Given the description of an element on the screen output the (x, y) to click on. 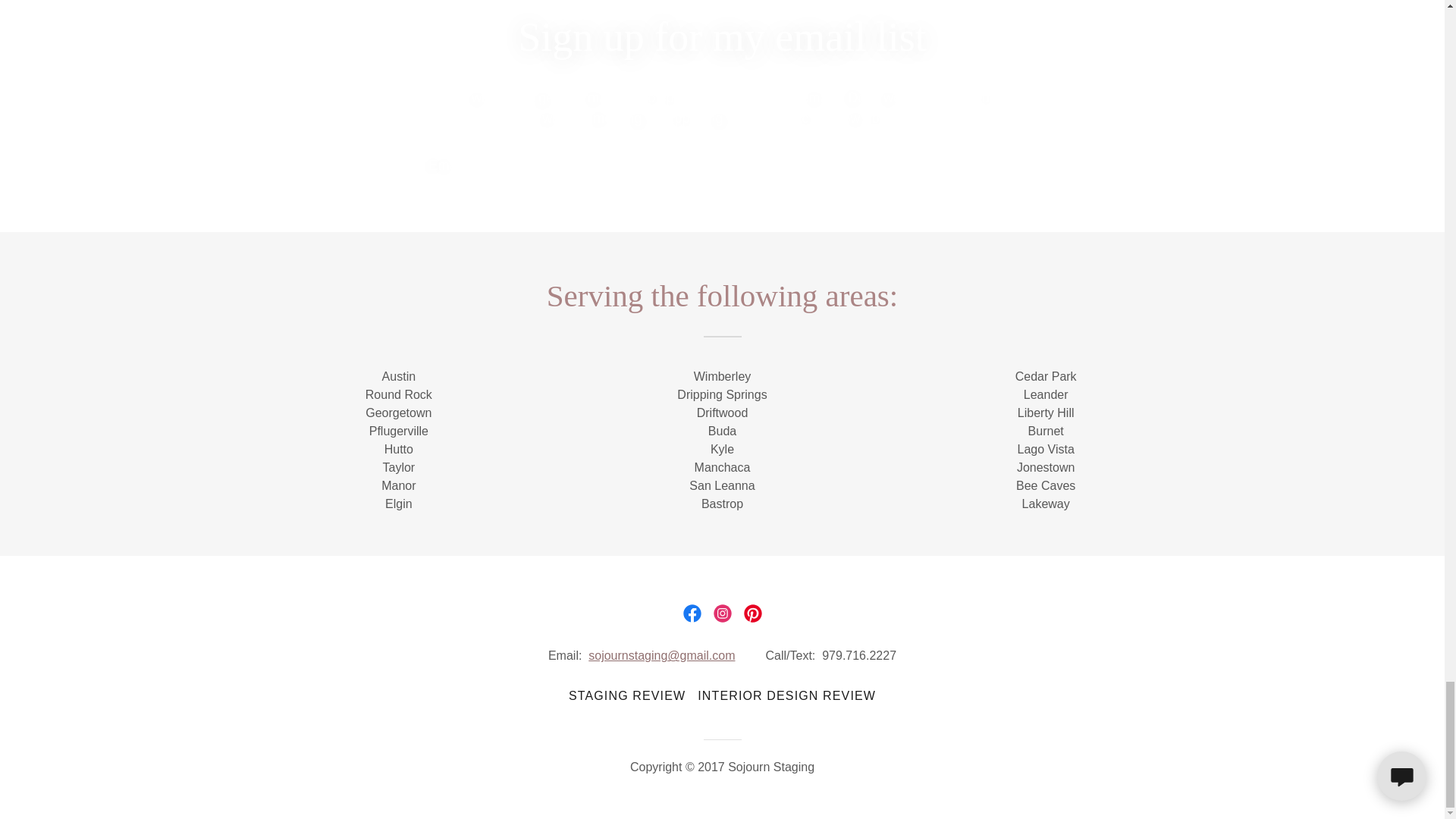
STAGING REVIEW (626, 696)
INTERIOR DESIGN REVIEW (786, 696)
GET EMAILS (961, 165)
